Given the description of an element on the screen output the (x, y) to click on. 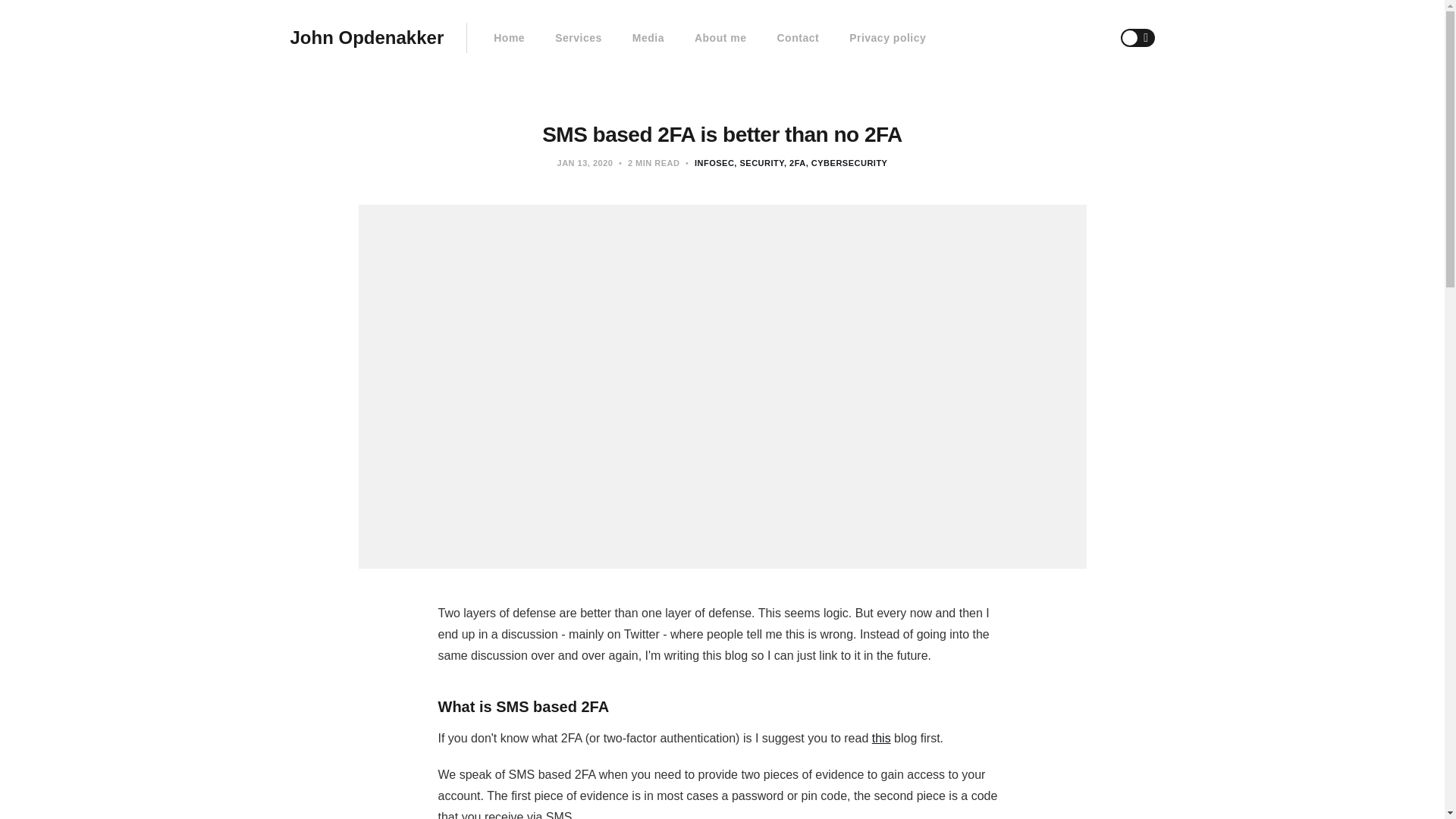
Services (578, 37)
Infosec (713, 162)
CYBERSECURITY (847, 162)
INFOSEC (713, 162)
cybersecurity (847, 162)
Media (647, 37)
this (881, 738)
SECURITY (758, 162)
Home (508, 37)
2FA (795, 162)
